Given the description of an element on the screen output the (x, y) to click on. 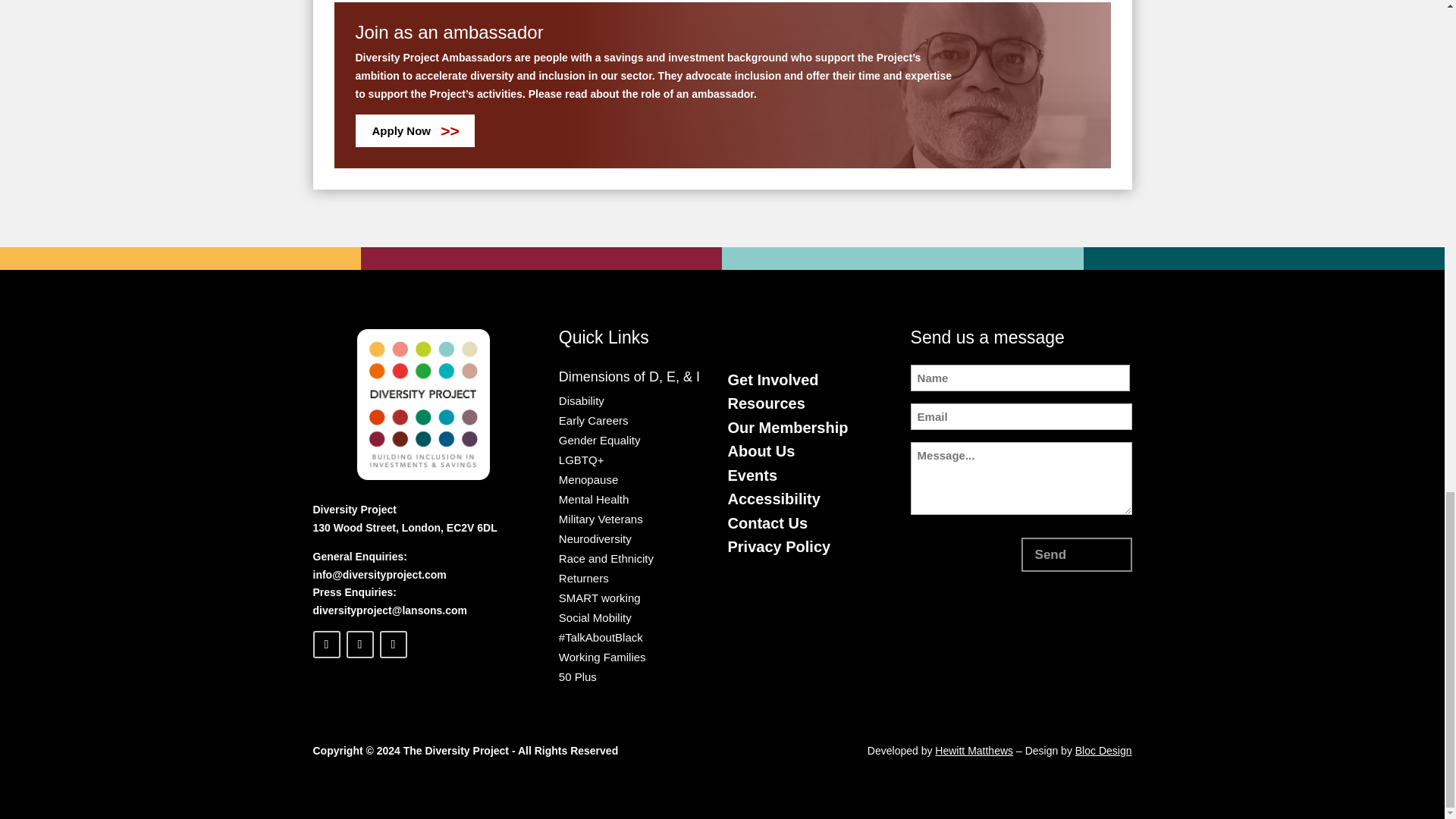
Send (1077, 554)
Follow on X (359, 644)
Follow on LinkedIn (326, 644)
Follow on Youtube (392, 644)
